Given the description of an element on the screen output the (x, y) to click on. 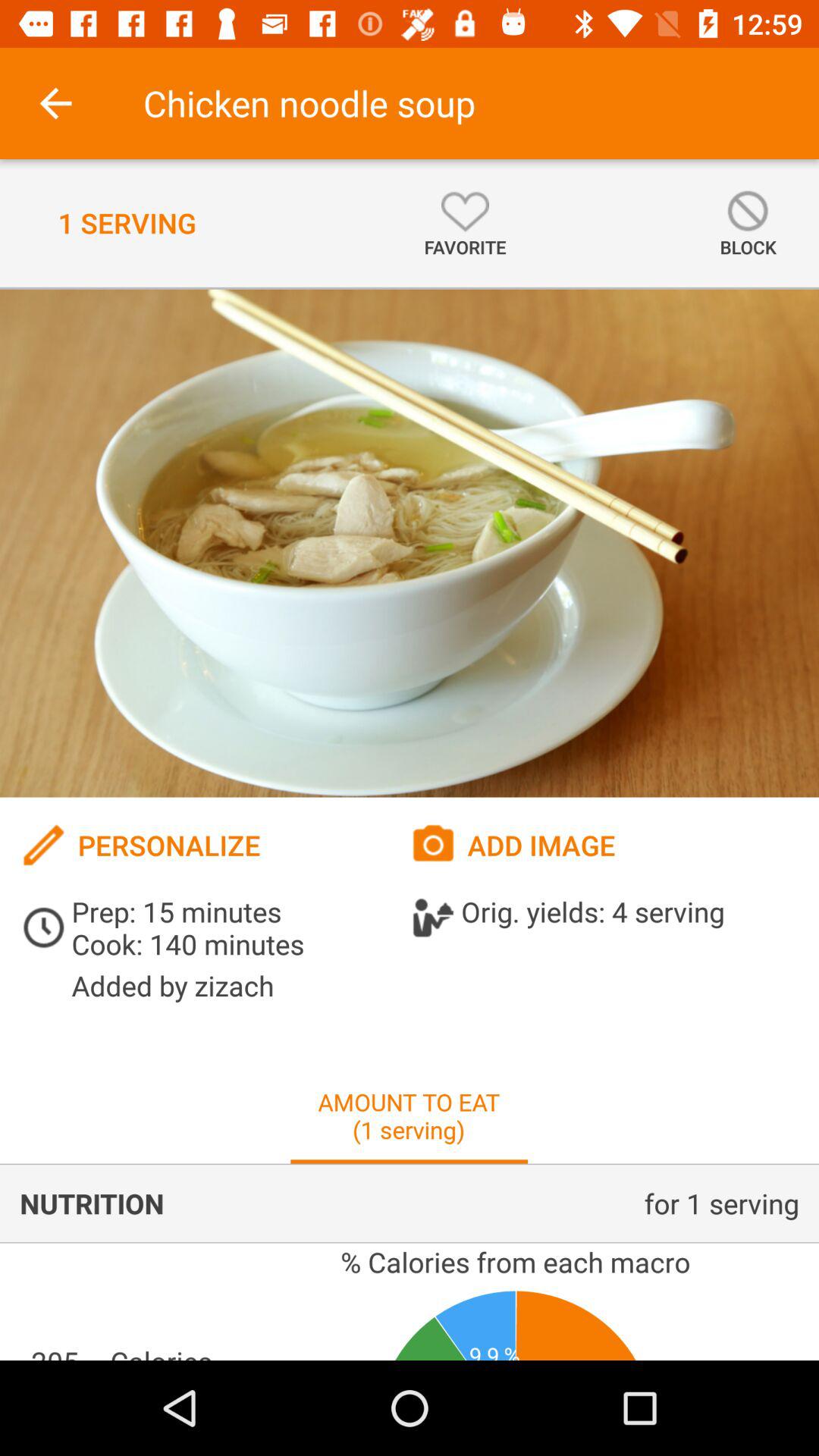
launch the block (748, 223)
